Given the description of an element on the screen output the (x, y) to click on. 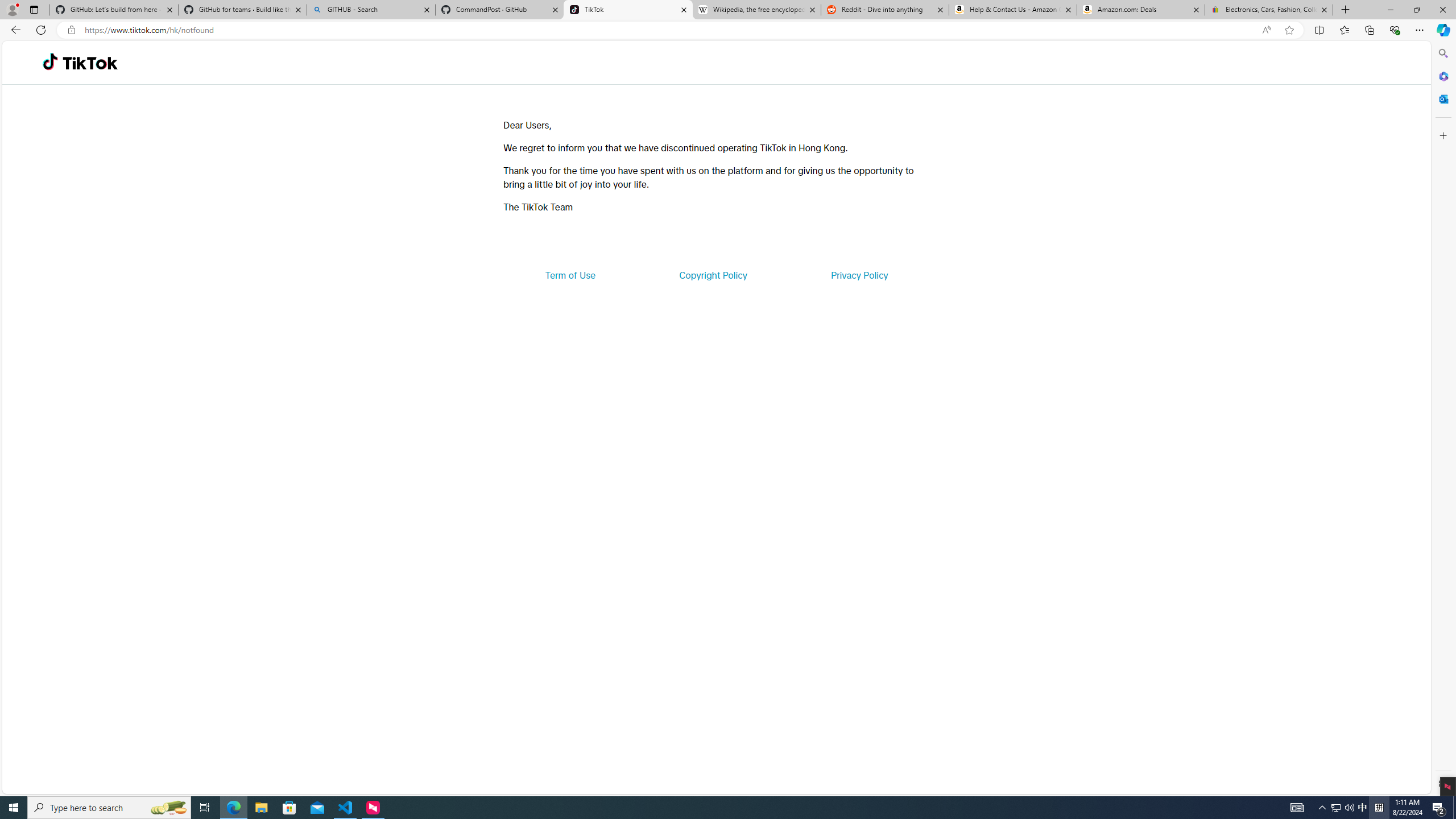
TikTok (89, 62)
Side bar (1443, 418)
Amazon.com: Deals (1140, 9)
Customize (1442, 135)
Close Outlook pane (1442, 98)
